Given the description of an element on the screen output the (x, y) to click on. 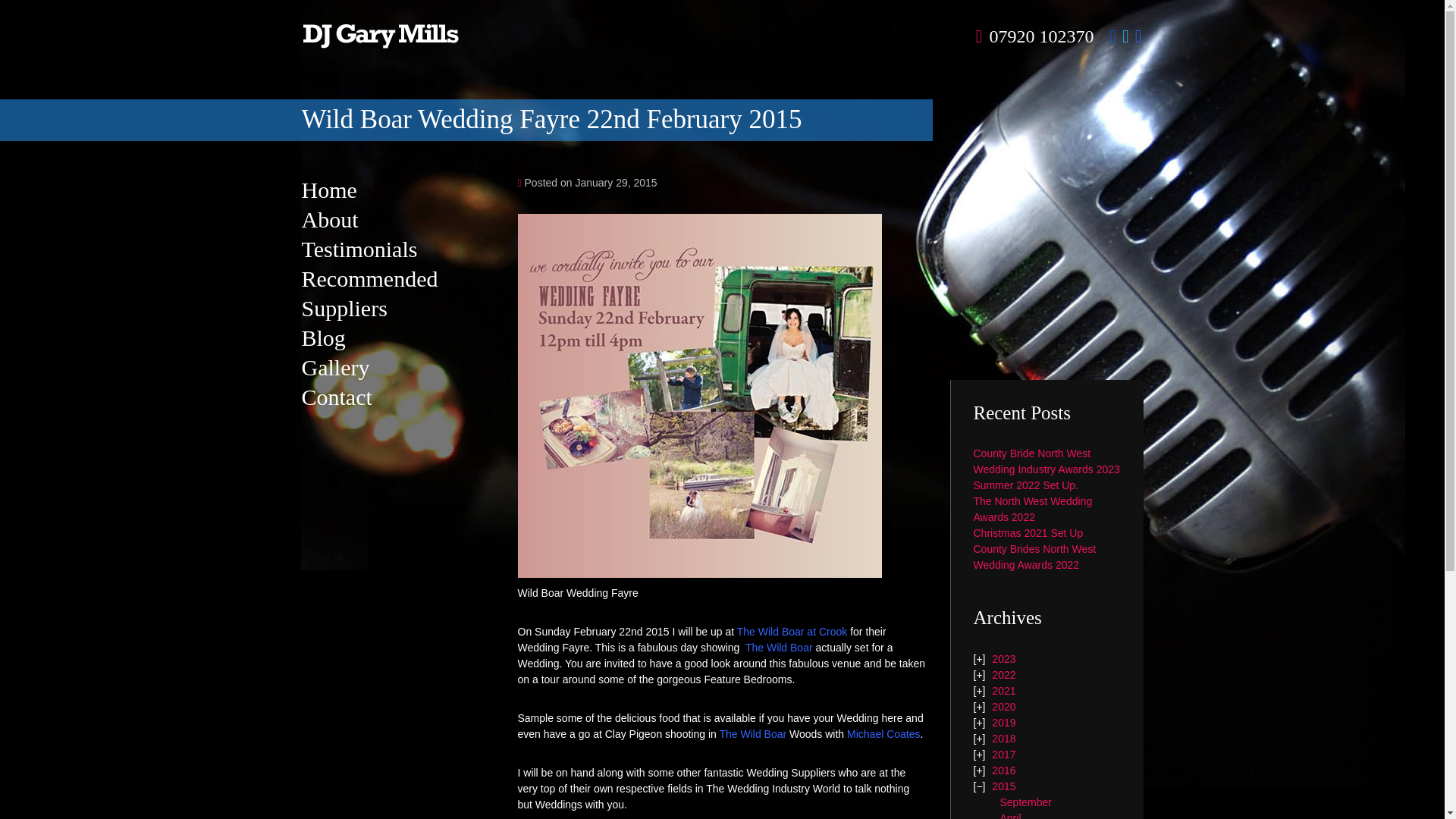
The Wild Boar at Crook (791, 630)
The Wild Boar (752, 734)
Gallery (335, 366)
Shooting (883, 734)
Summer 2022 Set Up. (1026, 485)
2021 (1002, 689)
Wild Boar (791, 630)
Wild Boar (780, 647)
County Bride North West Wedding Industry Awards 2023 (1046, 461)
County Brides North West Wedding Awards 2022 (1035, 556)
The Wild Boar (780, 647)
Wild Boar (752, 734)
2022 (1002, 674)
Blog (323, 337)
About (329, 219)
